Given the description of an element on the screen output the (x, y) to click on. 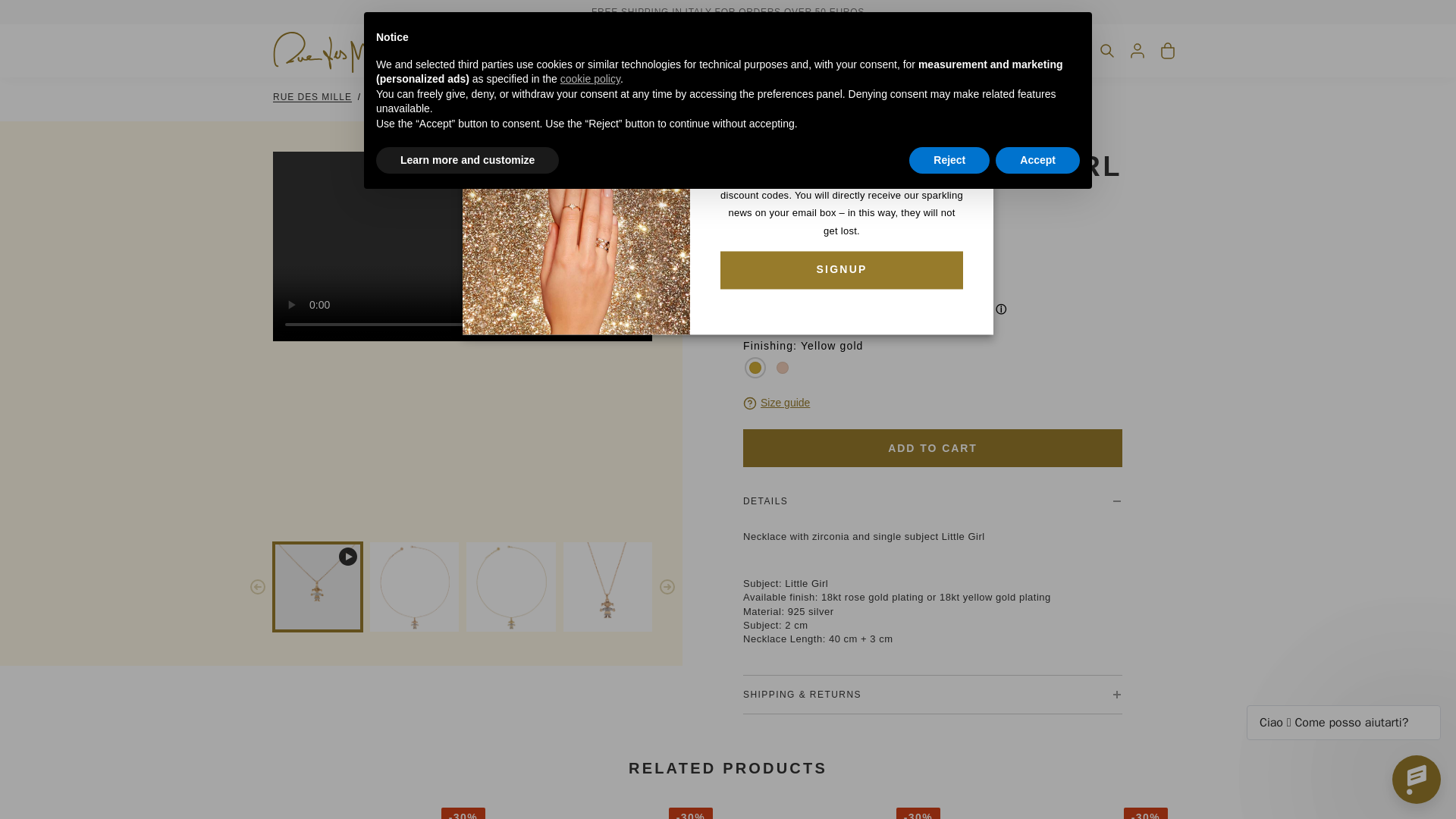
PRODUCTS (458, 50)
COLLECTIONS (549, 50)
